Given the description of an element on the screen output the (x, y) to click on. 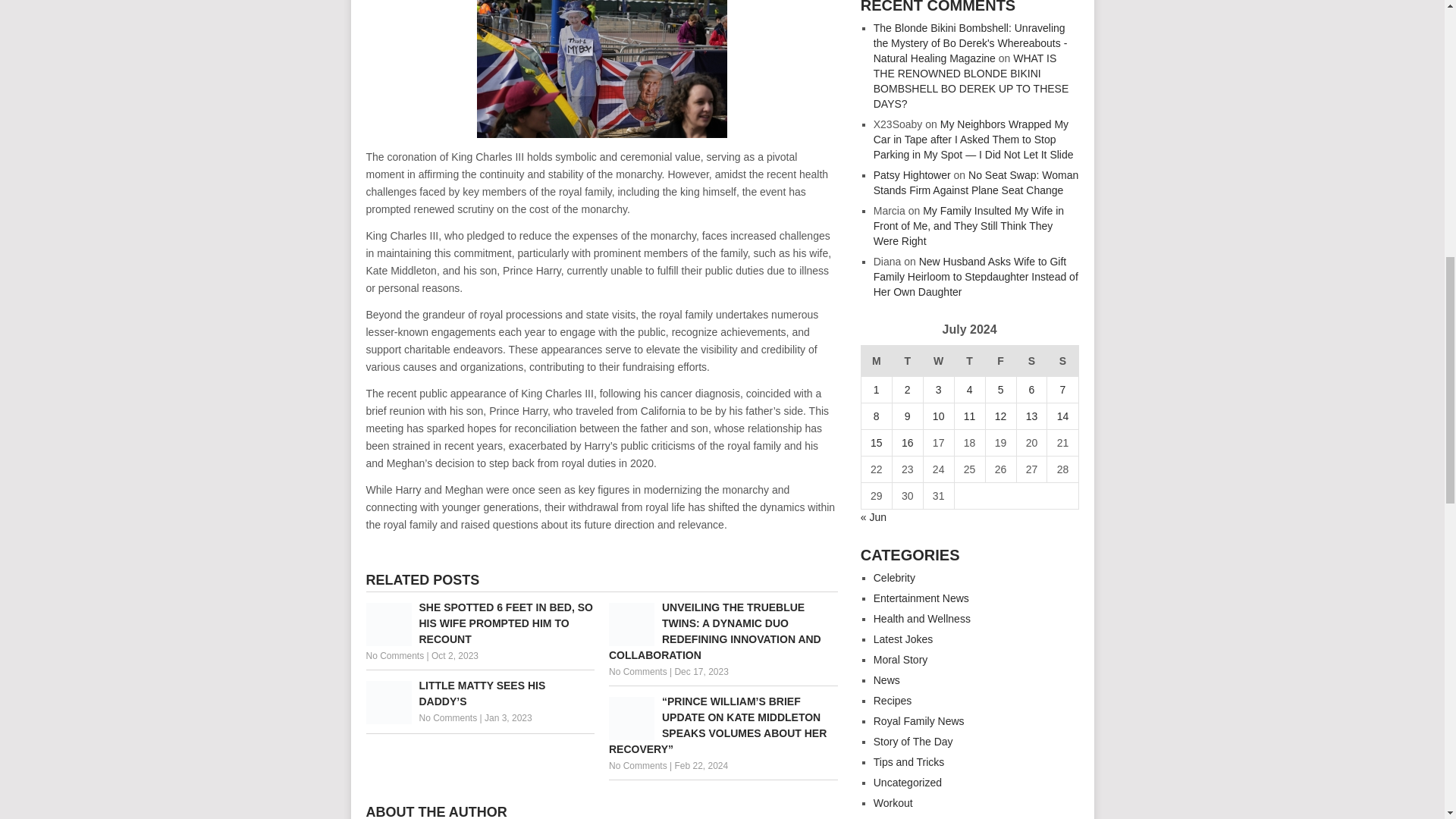
No Comments (448, 717)
No Comments (637, 671)
No Comments (637, 765)
No Comments (394, 655)
